Given the description of an element on the screen output the (x, y) to click on. 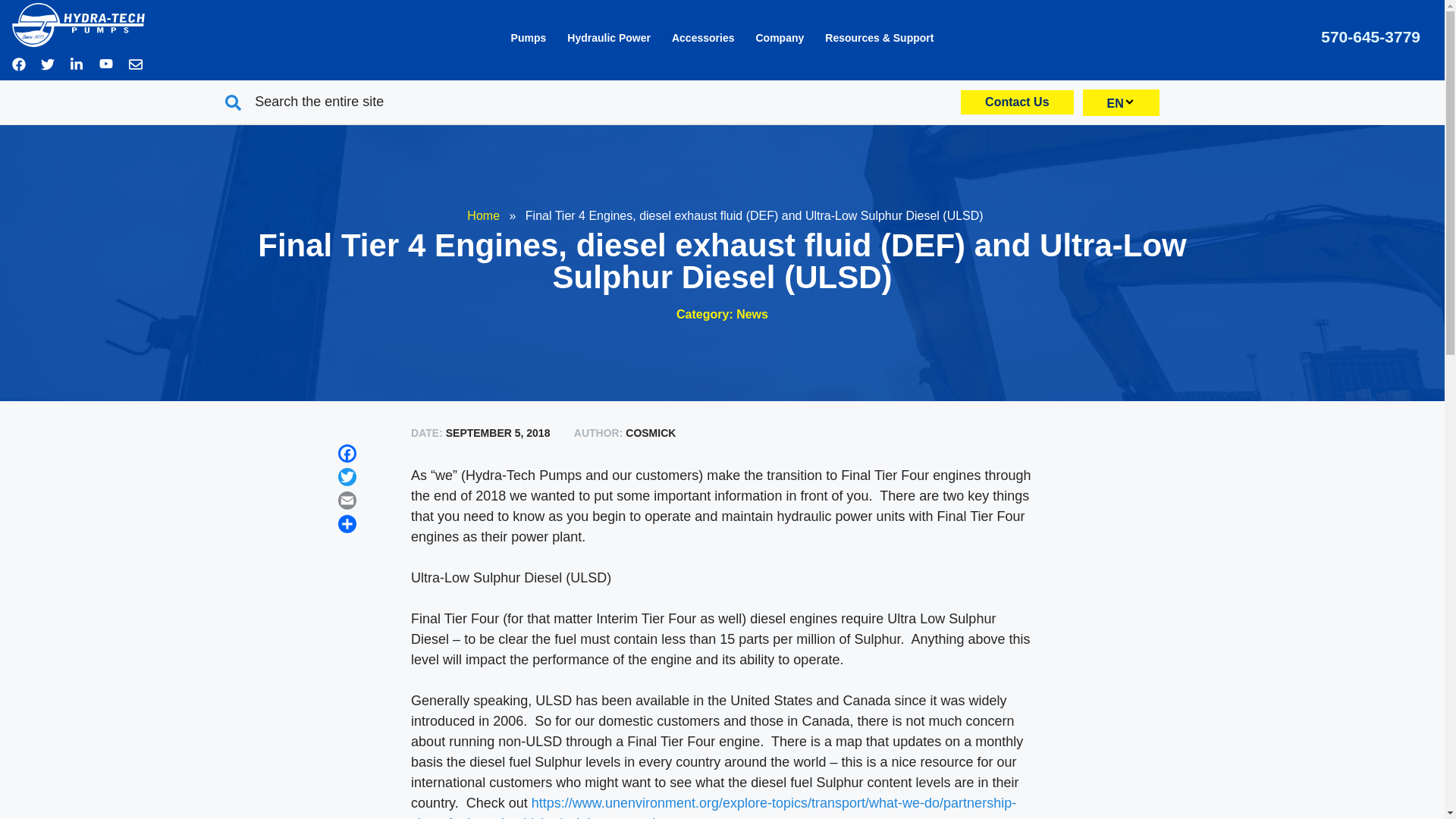
Hydraulic Power (608, 37)
Twitter (346, 479)
Email (346, 503)
Pumps (528, 37)
Accessories (703, 37)
Company (778, 37)
570-645-3779 (1370, 37)
Facebook (346, 455)
